Given the description of an element on the screen output the (x, y) to click on. 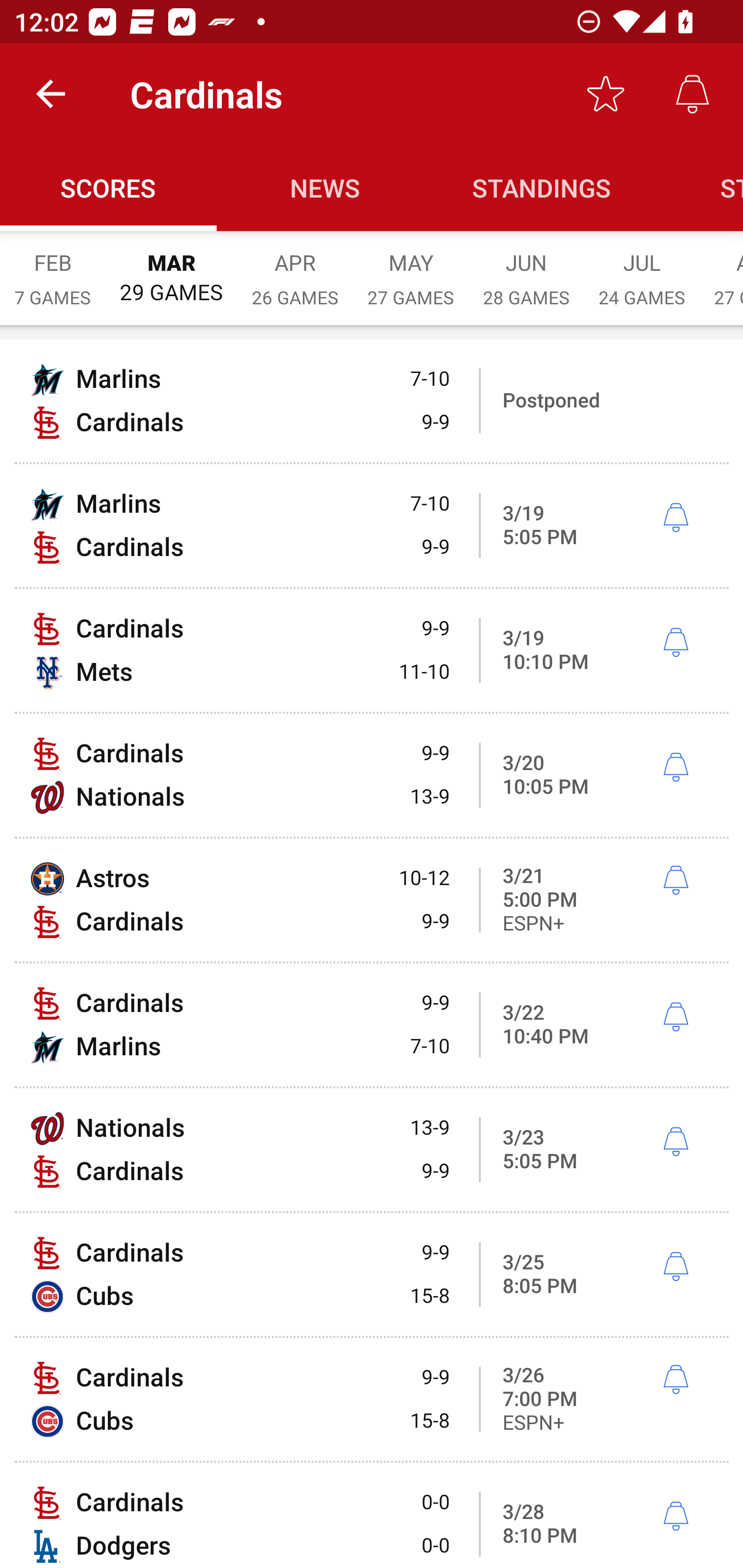
back.button (50, 93)
Favorite toggle (605, 93)
Alerts (692, 93)
News NEWS (324, 187)
Standings STANDINGS (541, 187)
FEB 7 GAMES (52, 268)
MAR 29 GAMES (171, 267)
APR 26 GAMES (294, 268)
MAY 27 GAMES (410, 268)
JUN 28 GAMES (525, 268)
JUL 24 GAMES (641, 268)
Marlins 7-10 Cardinals 9-9 Postponed (371, 400)
Marlins 7-10 Cardinals 9-9 3/19 5:05 PM í (371, 525)
í (675, 517)
Cardinals 9-9 Mets 11-10 3/19 10:10 PM í (371, 650)
í (675, 642)
Cardinals 9-9 Nationals 13-9 3/20 10:05 PM í (371, 775)
í (675, 767)
Astros 10-12 Cardinals 9-9 3/21 5:00 PM í ESPN+ (371, 899)
í (675, 879)
Cardinals 9-9 Marlins 7-10 3/22 10:40 PM í (371, 1024)
í (675, 1016)
Nationals 13-9 Cardinals 9-9 3/23 5:05 PM í (371, 1149)
í (675, 1141)
Cardinals 9-9 Cubs 15-8 3/25 8:05 PM í (371, 1274)
í (675, 1266)
Cardinals 9-9 Cubs 15-8 3/26 7:00 PM í ESPN+ (371, 1399)
í (675, 1379)
Cardinals 0-0 Dodgers 0-0 3/28 8:10 PM í (371, 1515)
í (675, 1516)
